Given the description of an element on the screen output the (x, y) to click on. 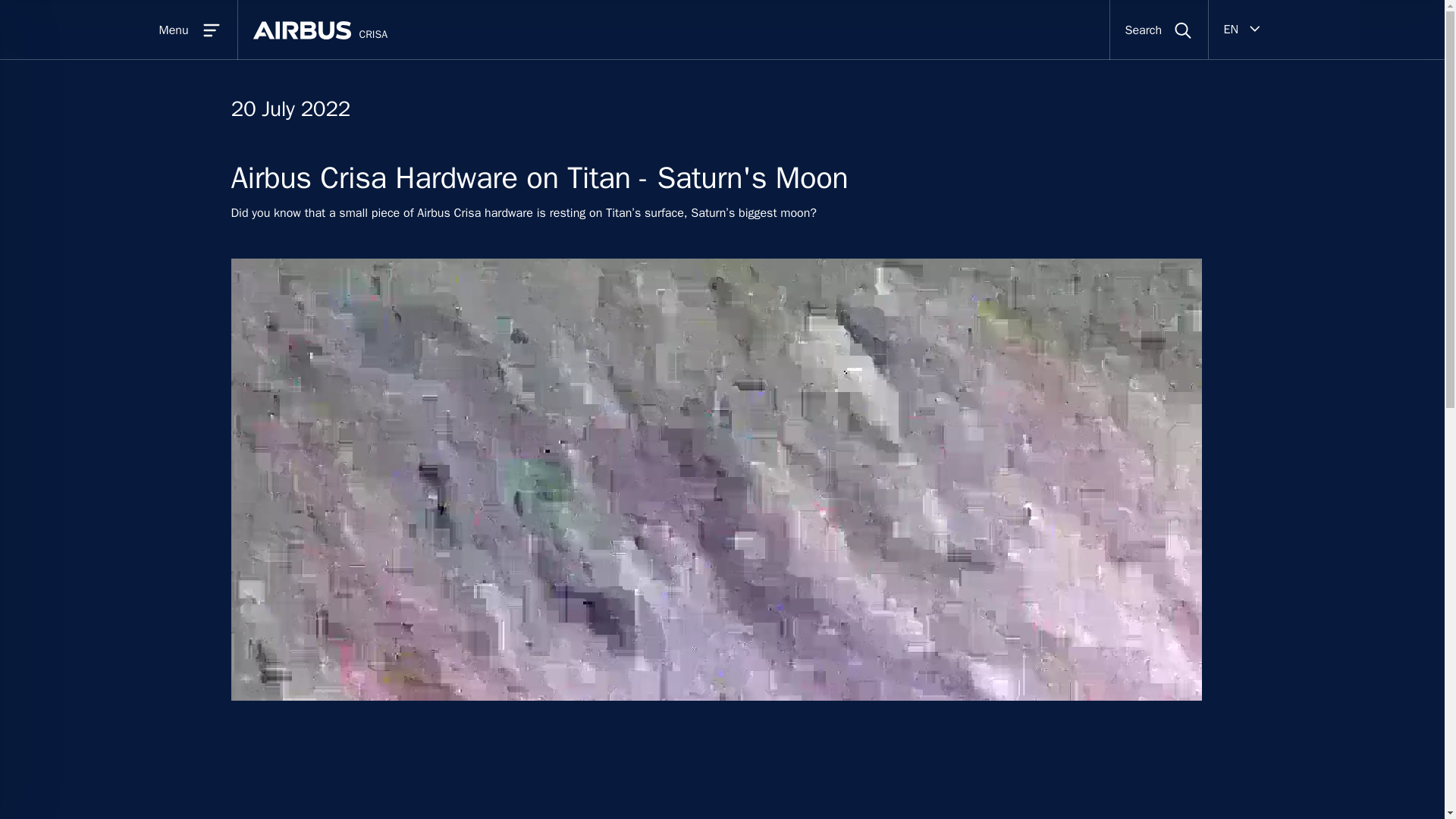
Skip to main content (737, 12)
Open menu (159, 29)
